Given the description of an element on the screen output the (x, y) to click on. 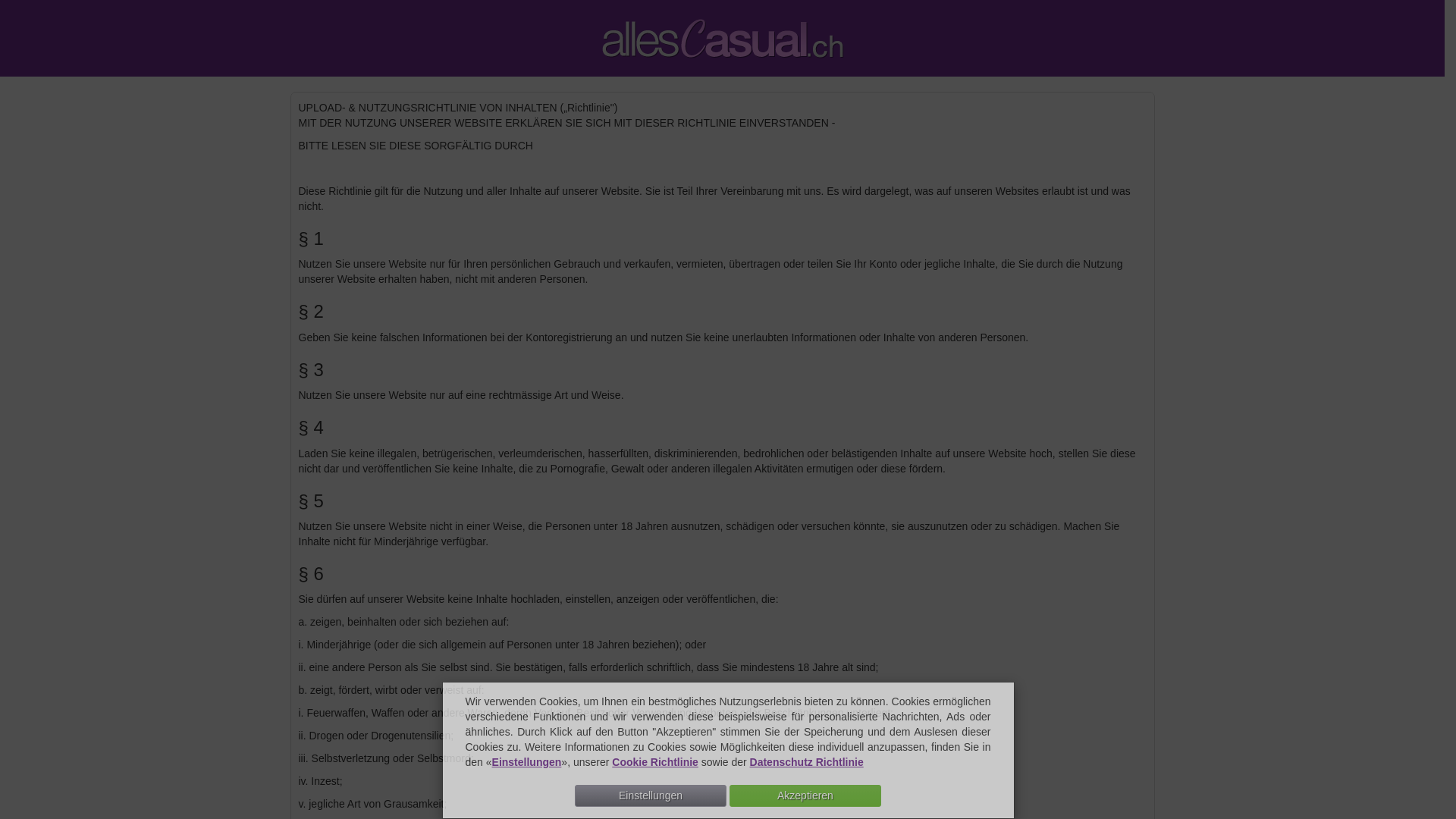
Cookie Richtlinie Element type: text (654, 762)
Datenschutz Richtlinie Element type: text (806, 762)
Einstellungen Element type: text (526, 762)
